Given the description of an element on the screen output the (x, y) to click on. 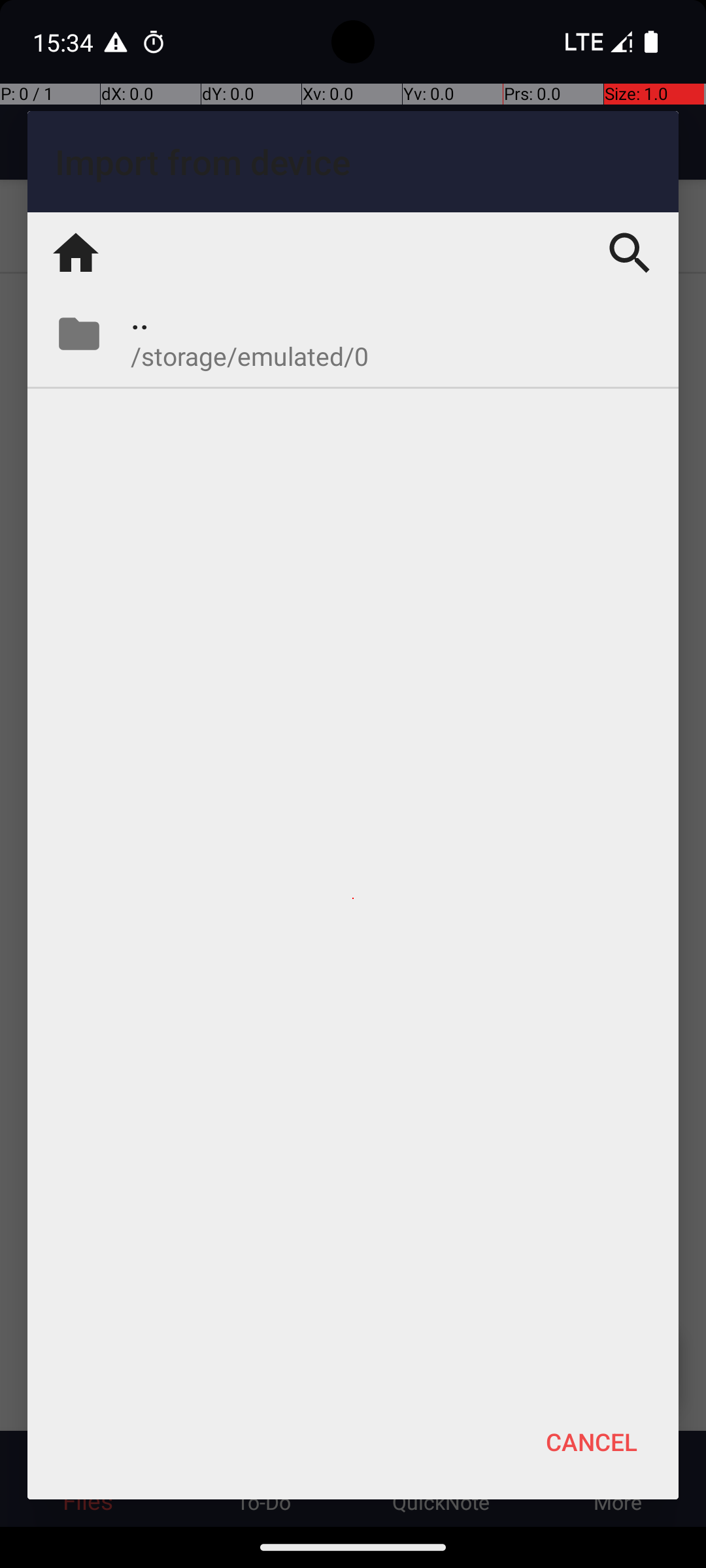
Import from device Element type: android.widget.TextView (352, 161)
